Given the description of an element on the screen output the (x, y) to click on. 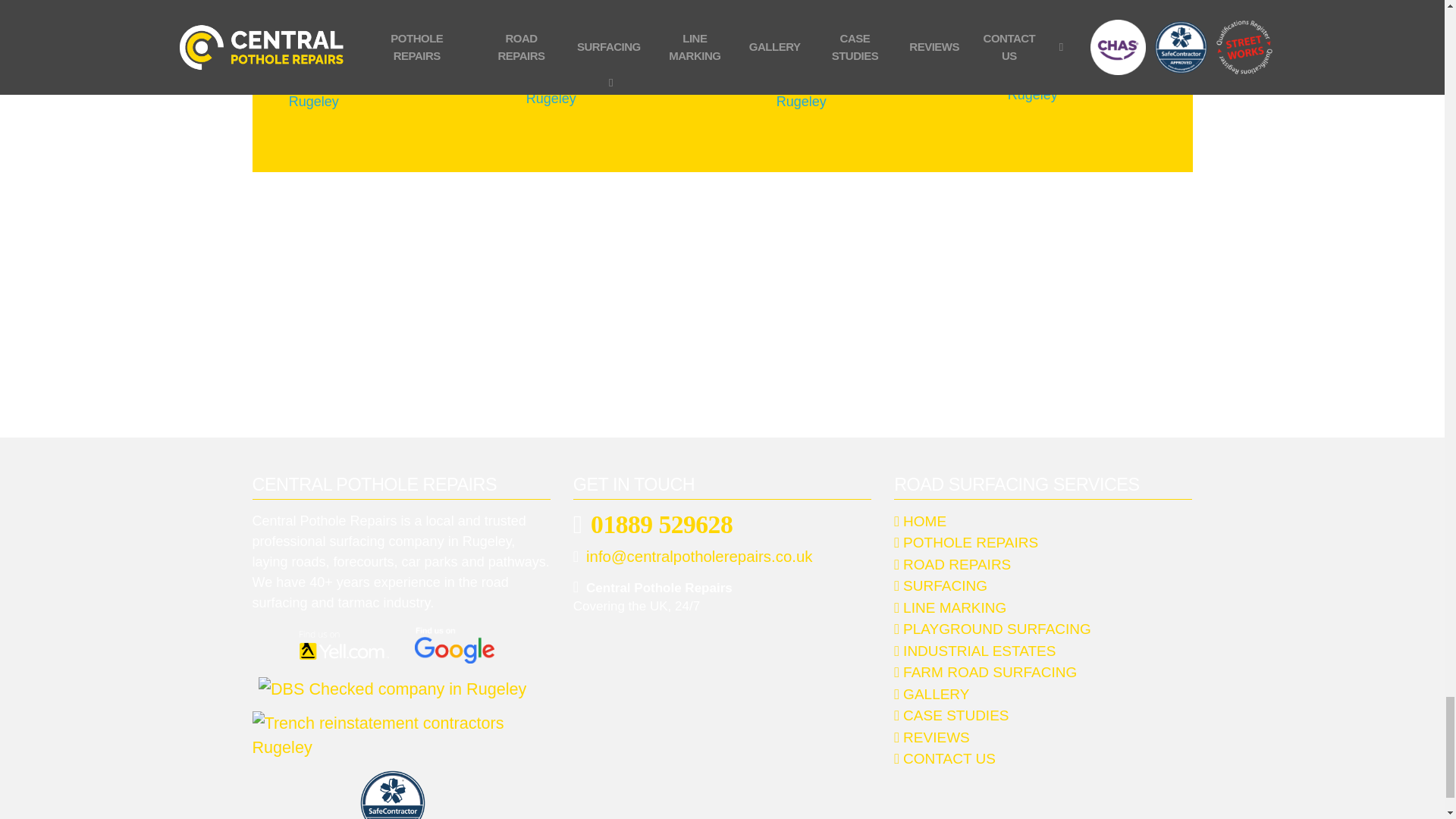
SUPPLIERS OF THE QUALITY MATERIALS WE USE (721, 18)
Cemex suppliers in Rugeley (601, 88)
Midland quarry product suppliers in Rugeley (360, 88)
Check out our Google Reviews (451, 640)
Aggregate industries suppliers Rugeley (842, 88)
DBS Checked Company (387, 685)
Check out our Yell Profile for Reviews (340, 641)
